Given the description of an element on the screen output the (x, y) to click on. 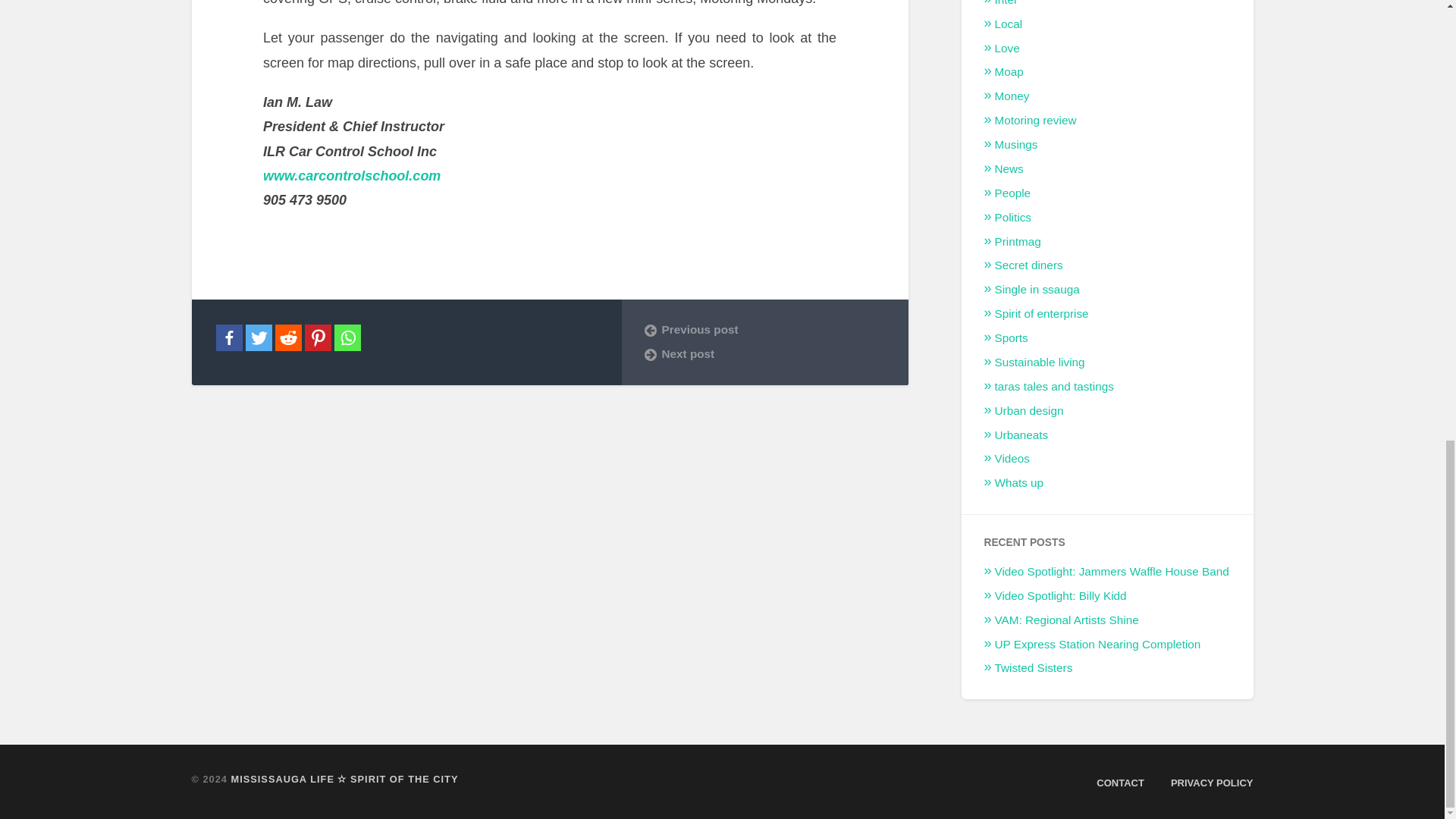
Twitter (259, 337)
Whatsapp (346, 337)
www.carcontrolschool.com (352, 188)
Facebook (228, 337)
Pinterest (317, 337)
Next post (765, 353)
Previous post (765, 329)
Reddit (288, 337)
